Given the description of an element on the screen output the (x, y) to click on. 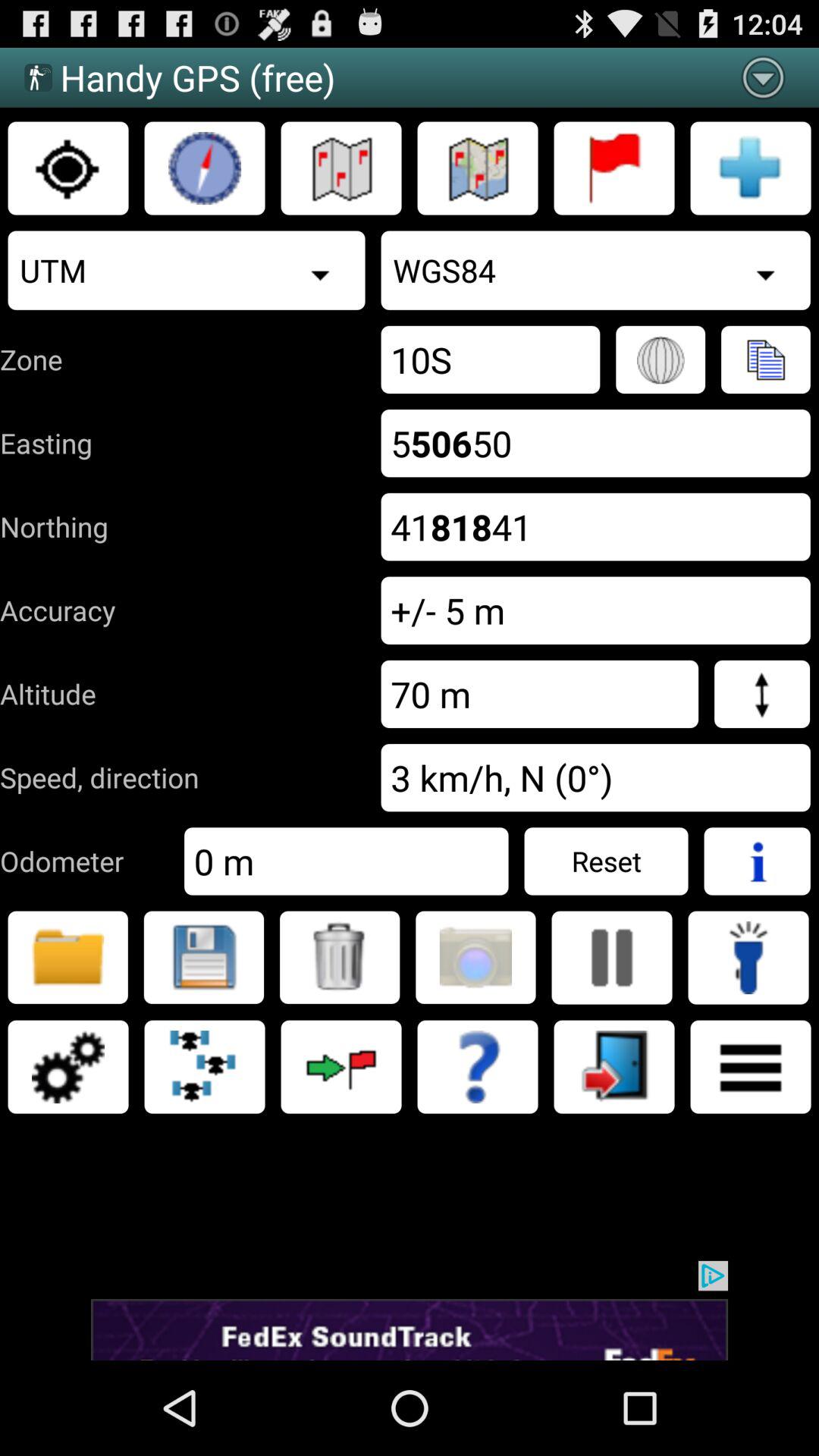
go to map without topography (341, 167)
